Given the description of an element on the screen output the (x, y) to click on. 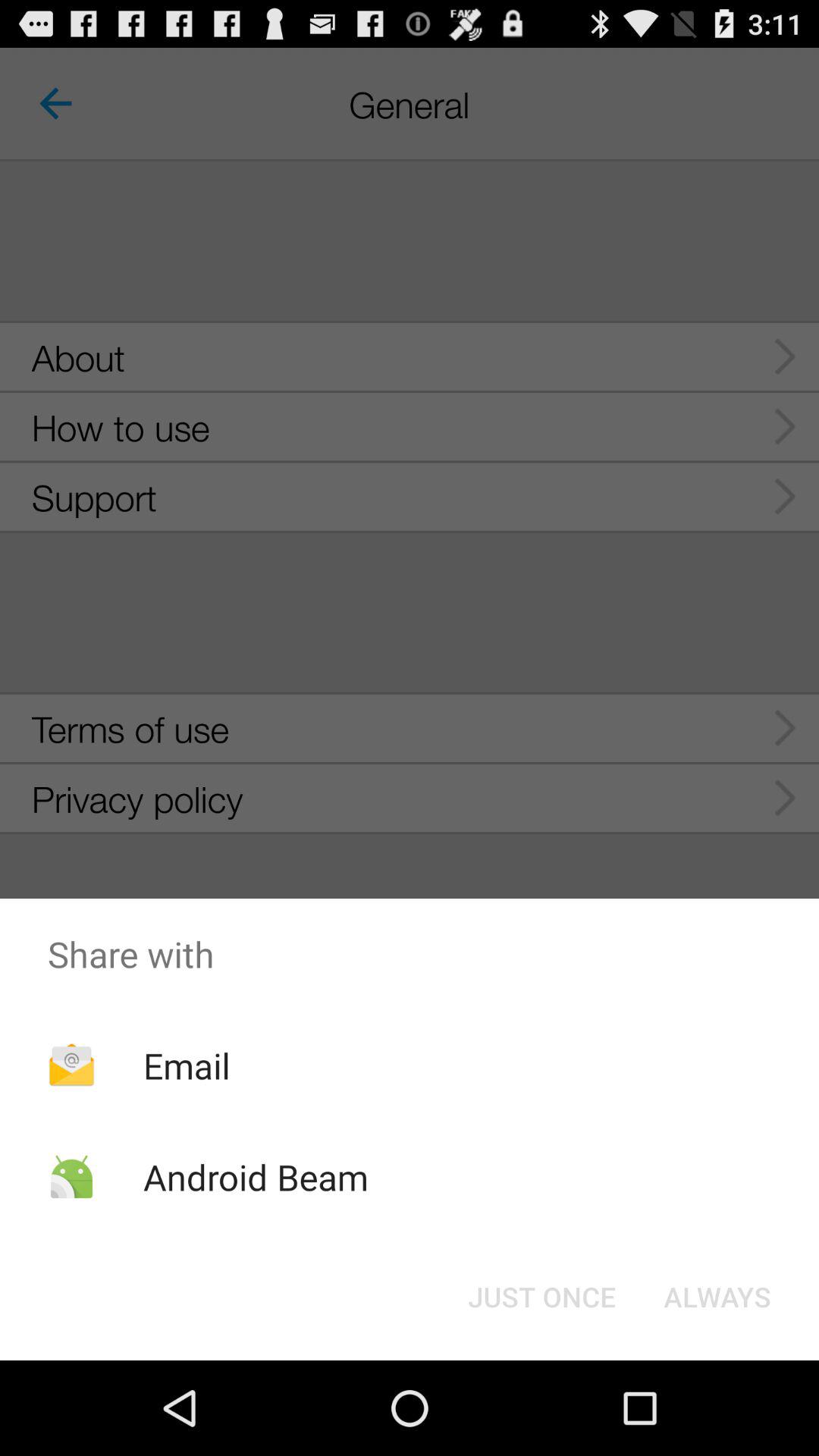
scroll until the just once button (541, 1296)
